Given the description of an element on the screen output the (x, y) to click on. 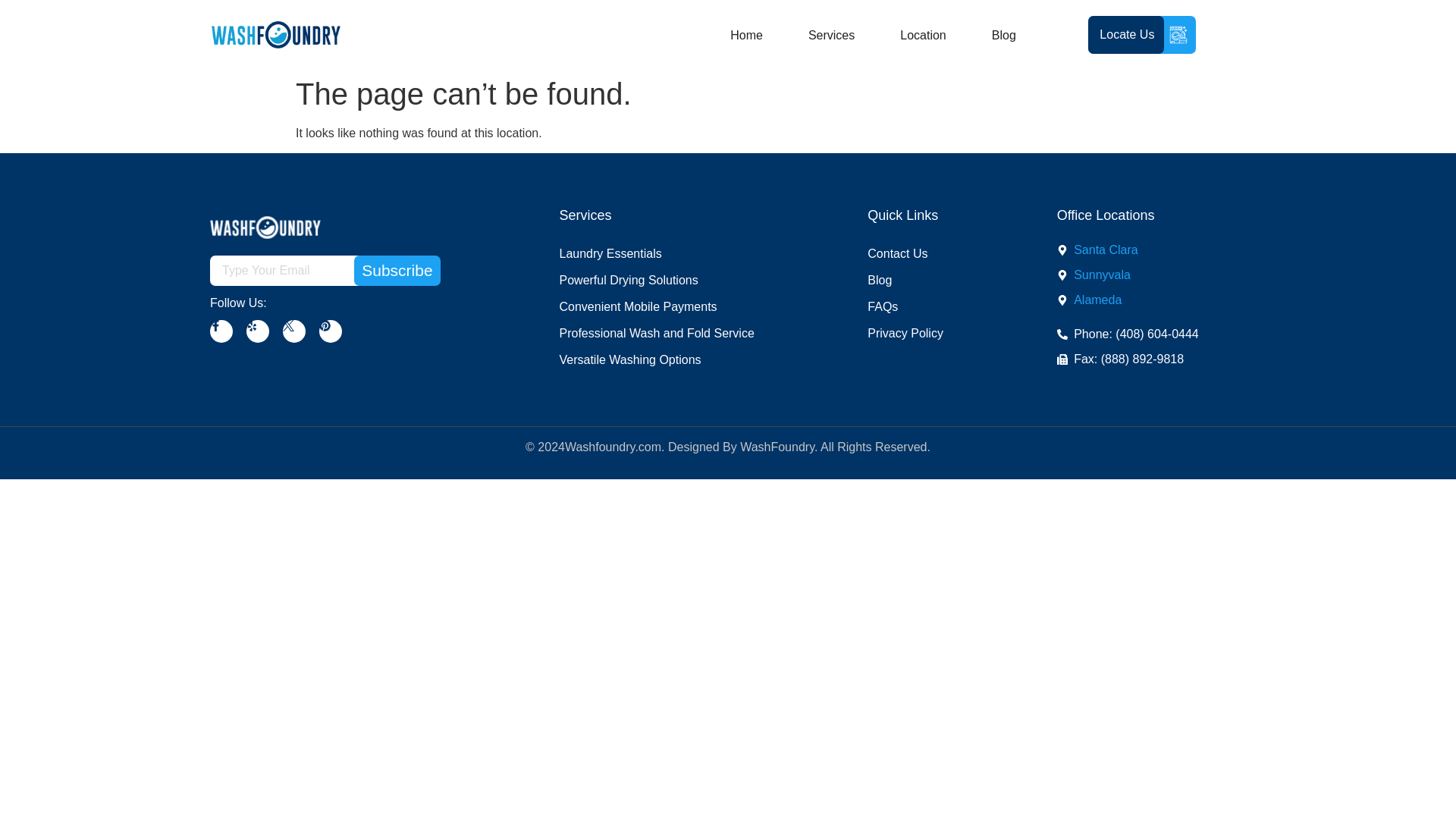
Convenient Mobile Payments (666, 306)
Privacy Policy (932, 333)
Contact Us (932, 253)
Blog (932, 279)
Subscribe (396, 270)
Blog (1004, 35)
Sunnyvala (1151, 274)
Santa Clara (1151, 249)
FAQs (932, 306)
WashFoundry (776, 446)
